Given the description of an element on the screen output the (x, y) to click on. 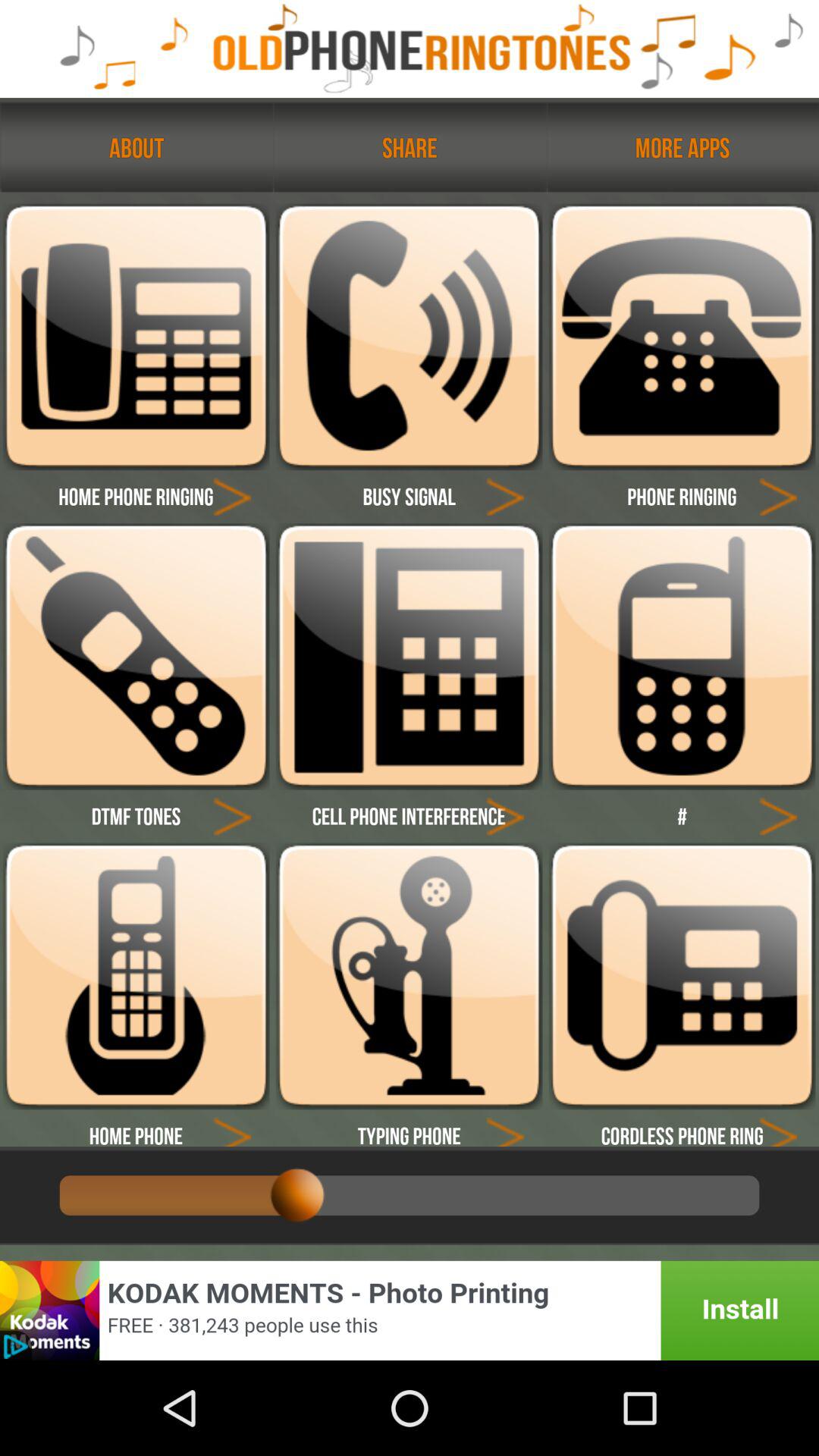
select phone type (232, 1127)
